Given the description of an element on the screen output the (x, y) to click on. 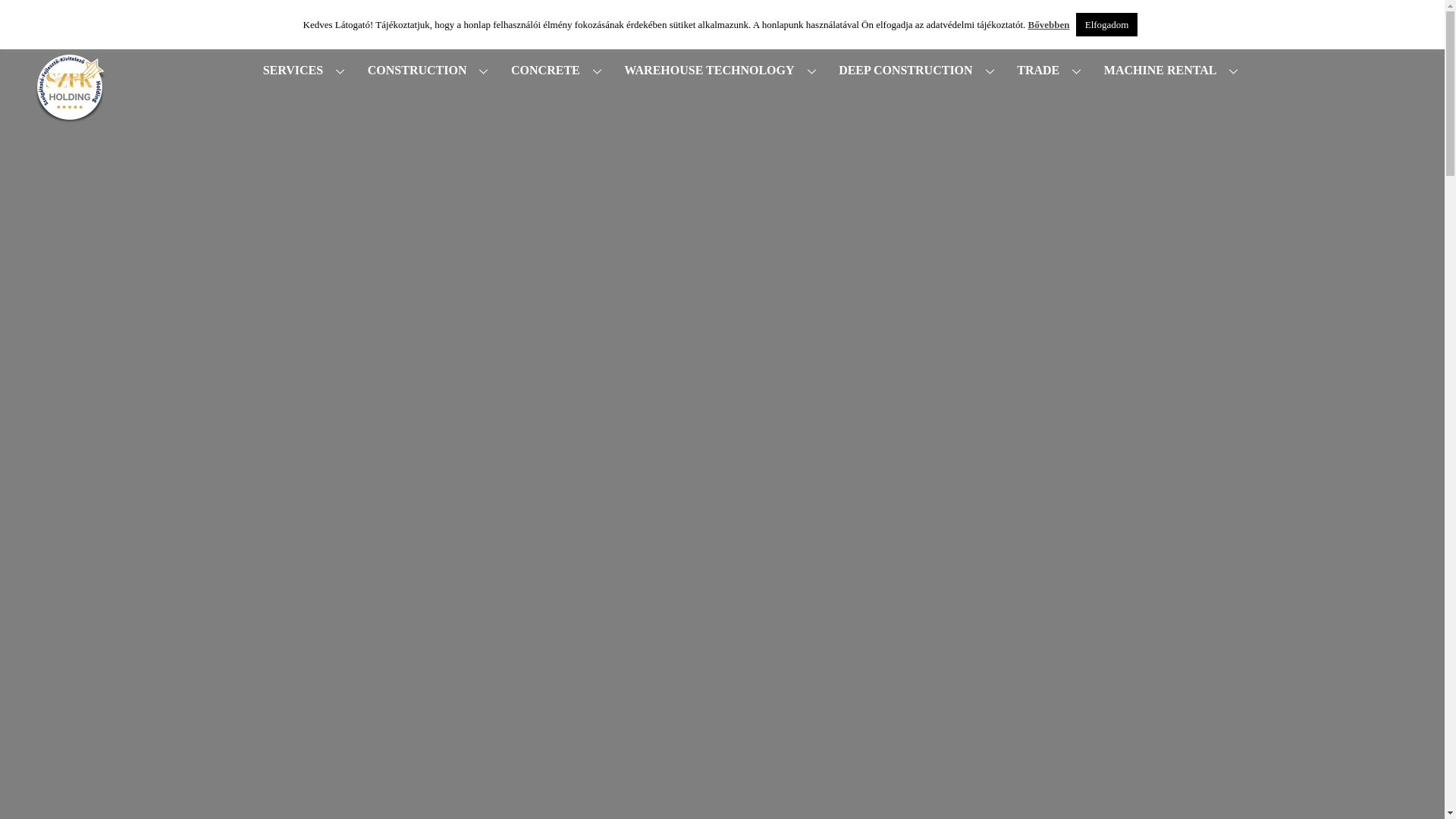
CONSTRUCTION (429, 70)
Gallery Our machines About us Contact (964, 15)
WAREHOUSE TECHNOLOGY (722, 70)
CONCRETE (557, 70)
About us (968, 15)
Our machines (881, 15)
Contact (1040, 15)
SZFK Holding (69, 128)
Gallery (799, 15)
